Given the description of an element on the screen output the (x, y) to click on. 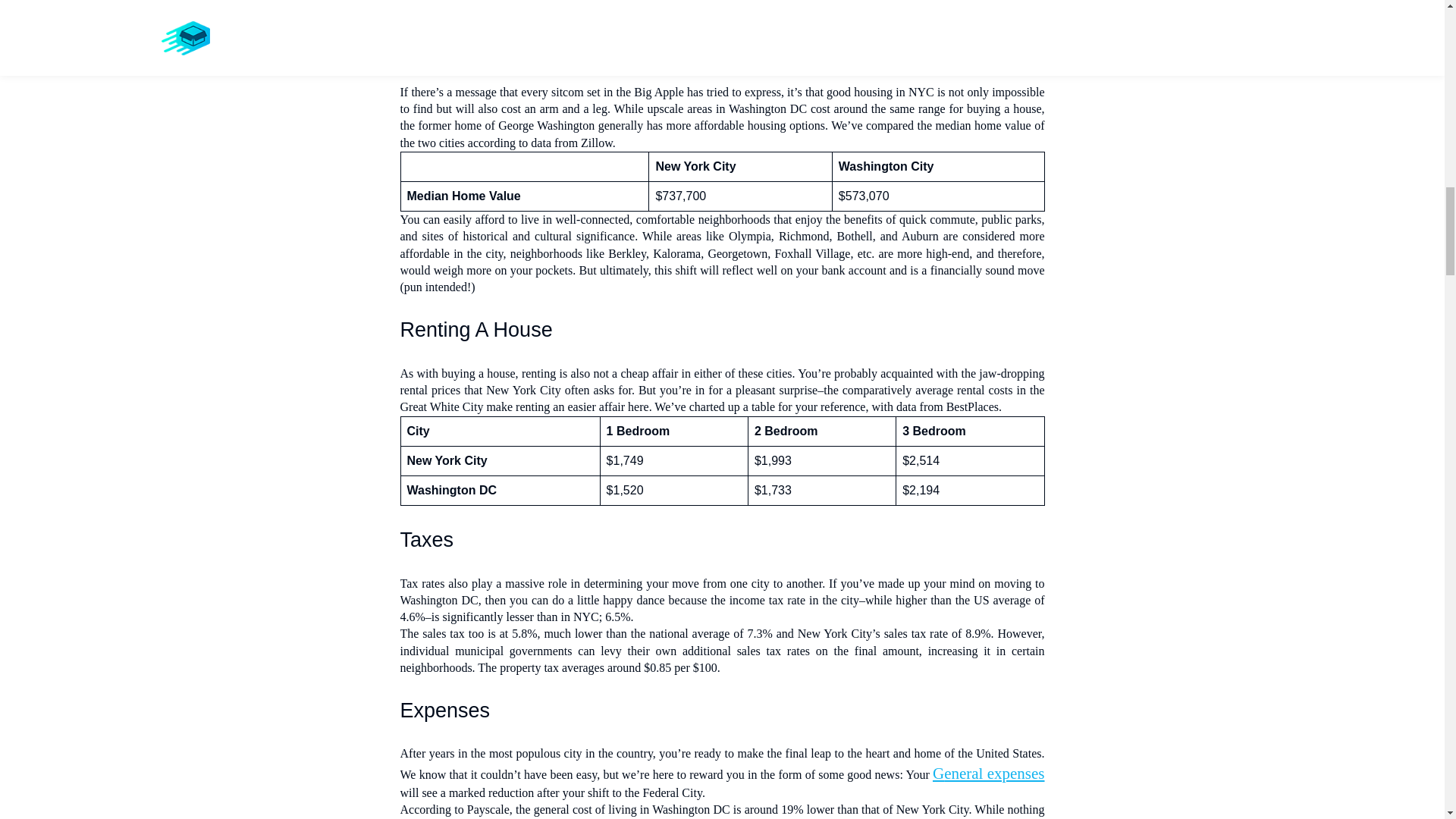
general expenses (989, 773)
